Given the description of an element on the screen output the (x, y) to click on. 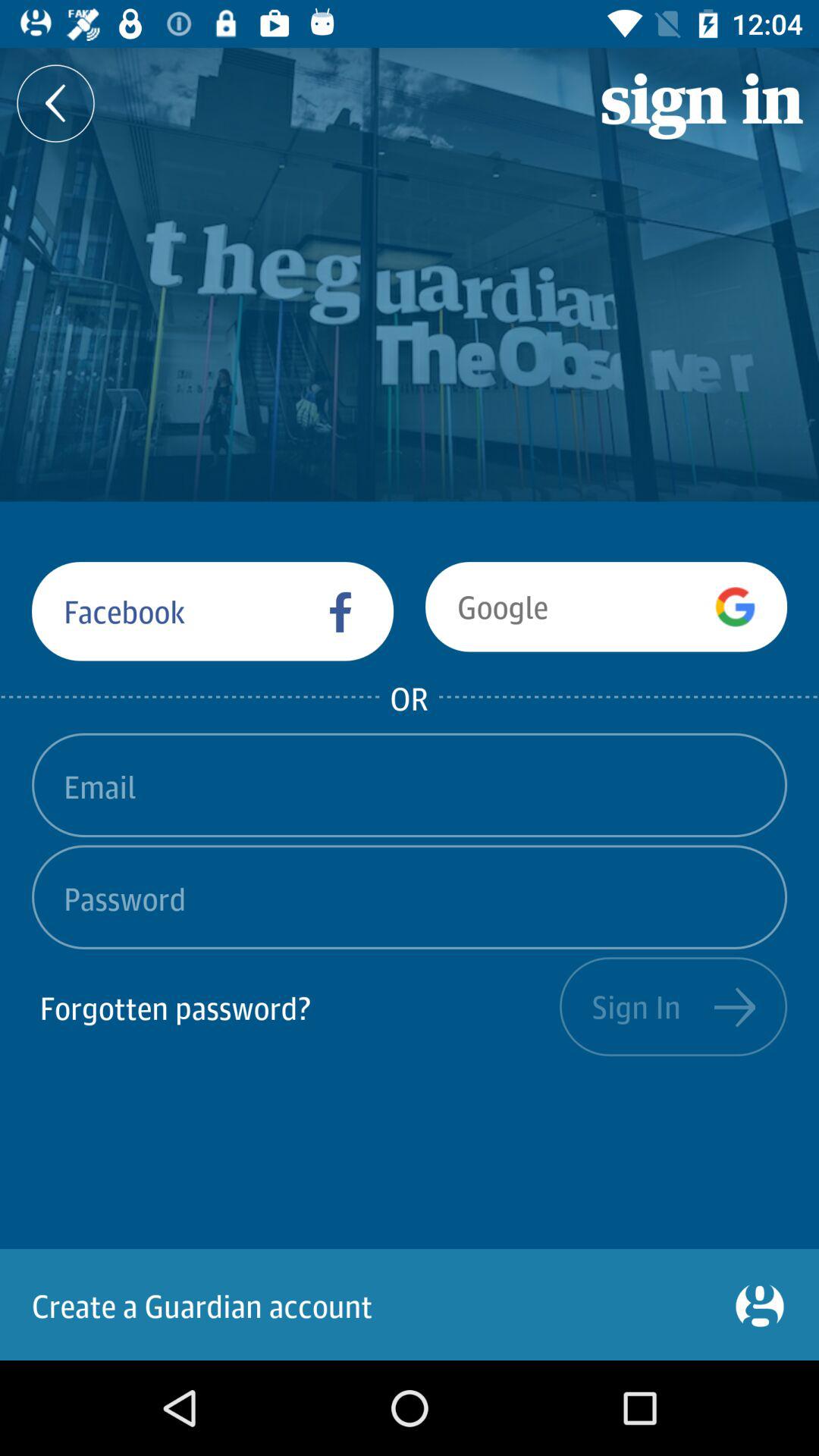
tap item next to sign in item (295, 1006)
